Given the description of an element on the screen output the (x, y) to click on. 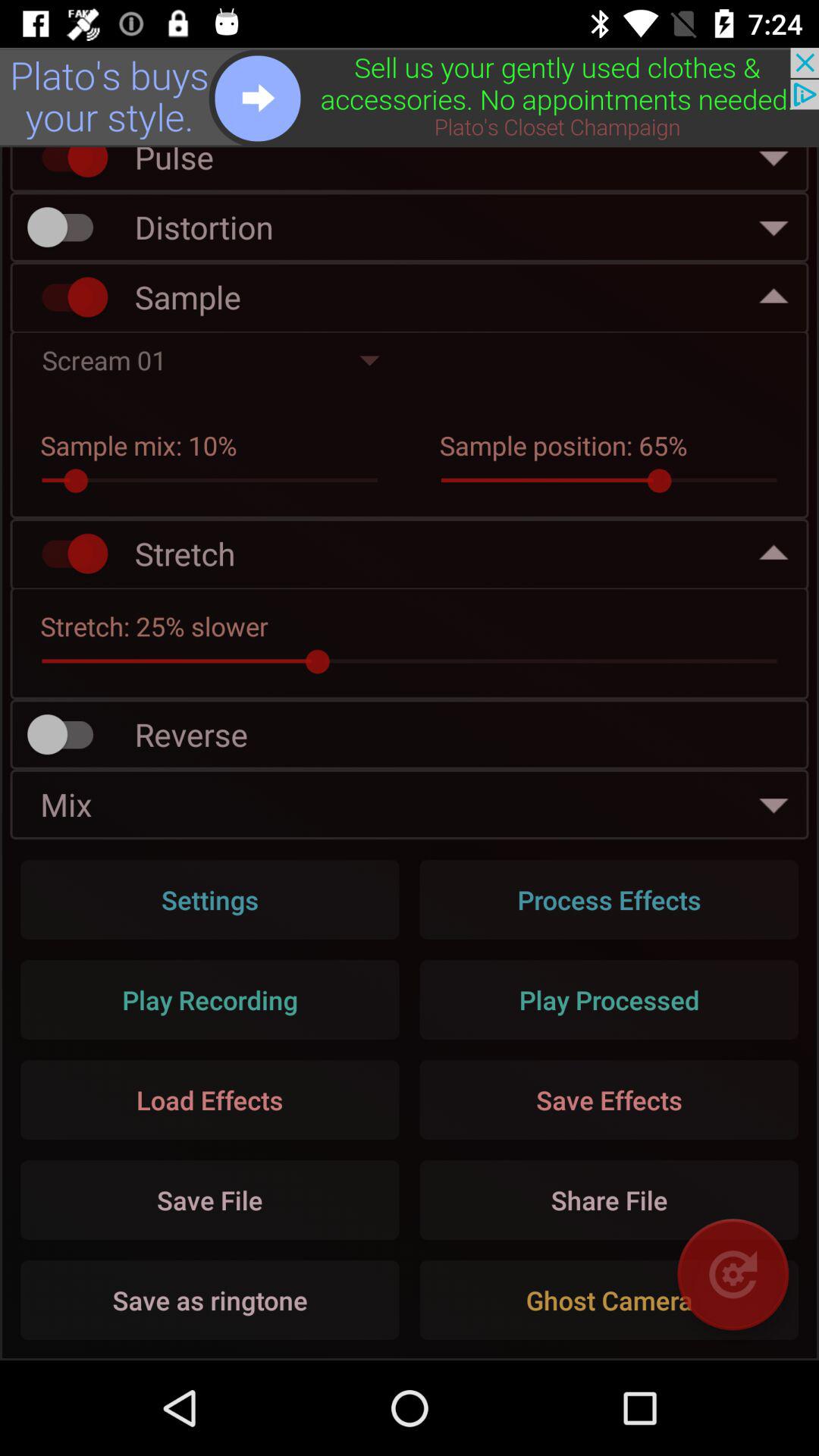
toggle sample (67, 297)
